Given the description of an element on the screen output the (x, y) to click on. 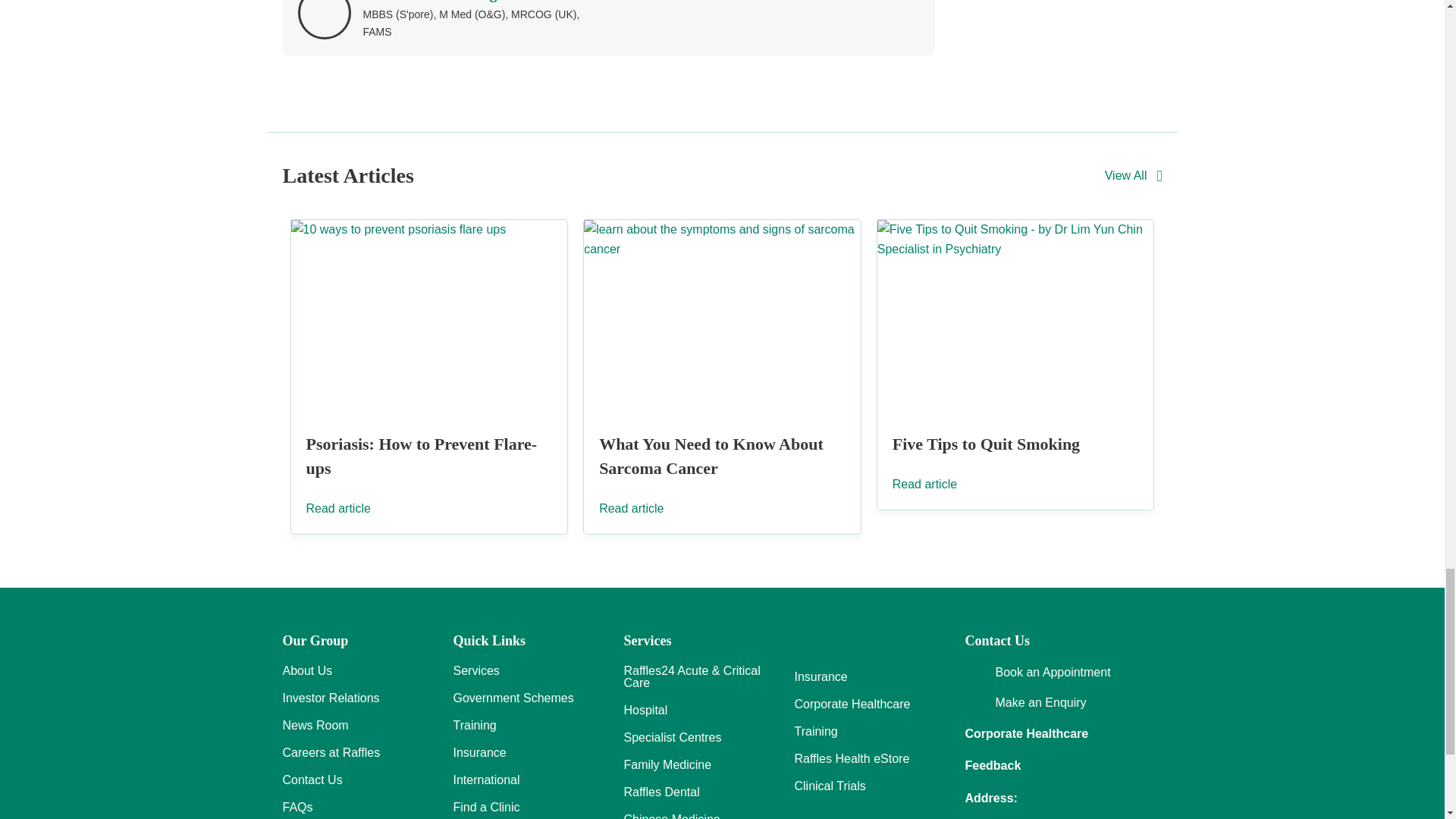
Five Tips to Quit Smoking (986, 443)
Five Tips to Quit Smoking (1015, 317)
Psoriasis: How to Prevent Flare-ups (421, 455)
What You Need to Know About Sarcoma Cancer (721, 317)
What You Need to Know About Sarcoma Cancer (711, 455)
Read More (642, 508)
Psoriasis: How to Prevent Flare-ups (429, 317)
Read More (936, 483)
Read More (349, 508)
